Given the description of an element on the screen output the (x, y) to click on. 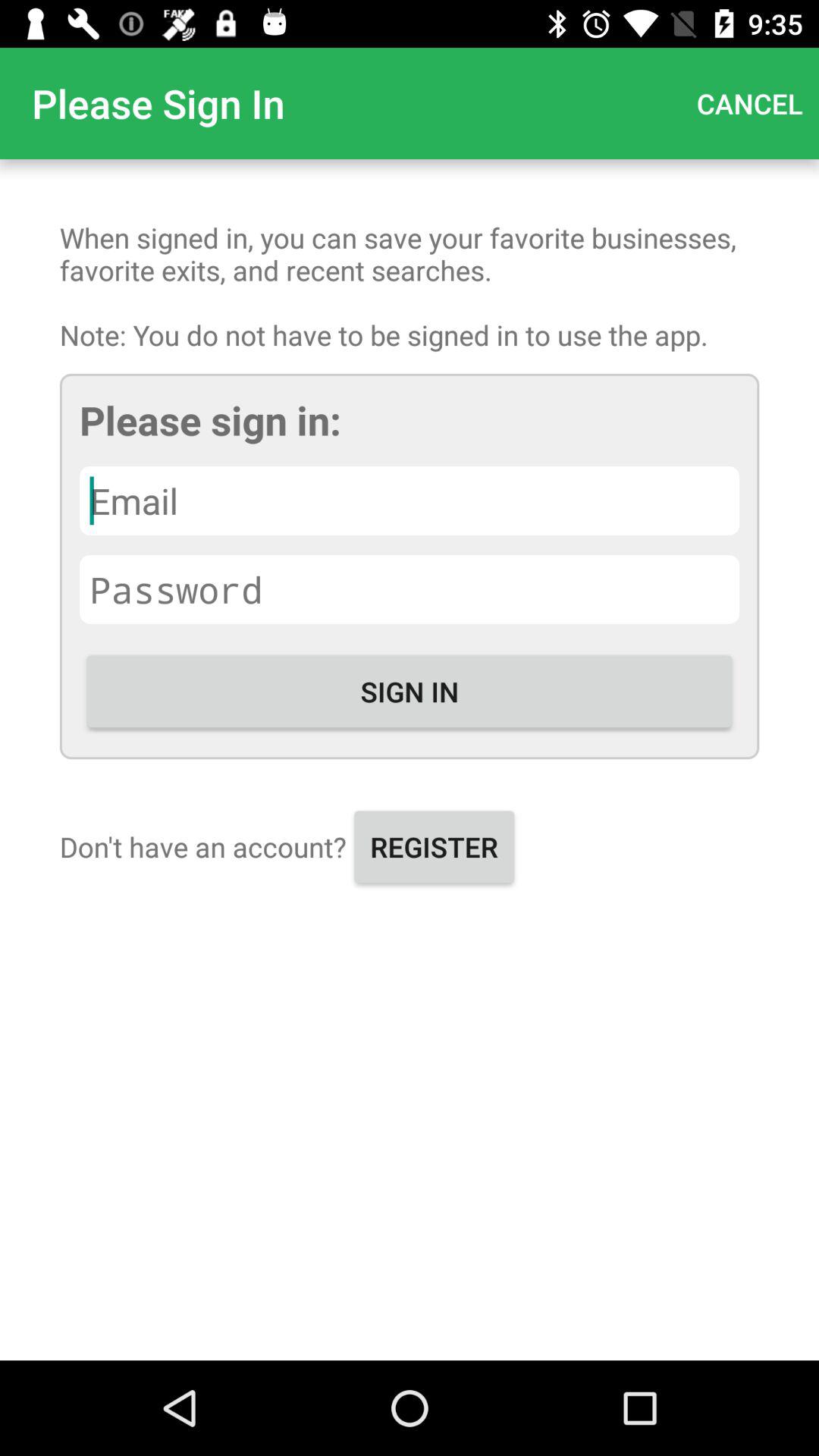
launch cancel icon (749, 103)
